Given the description of an element on the screen output the (x, y) to click on. 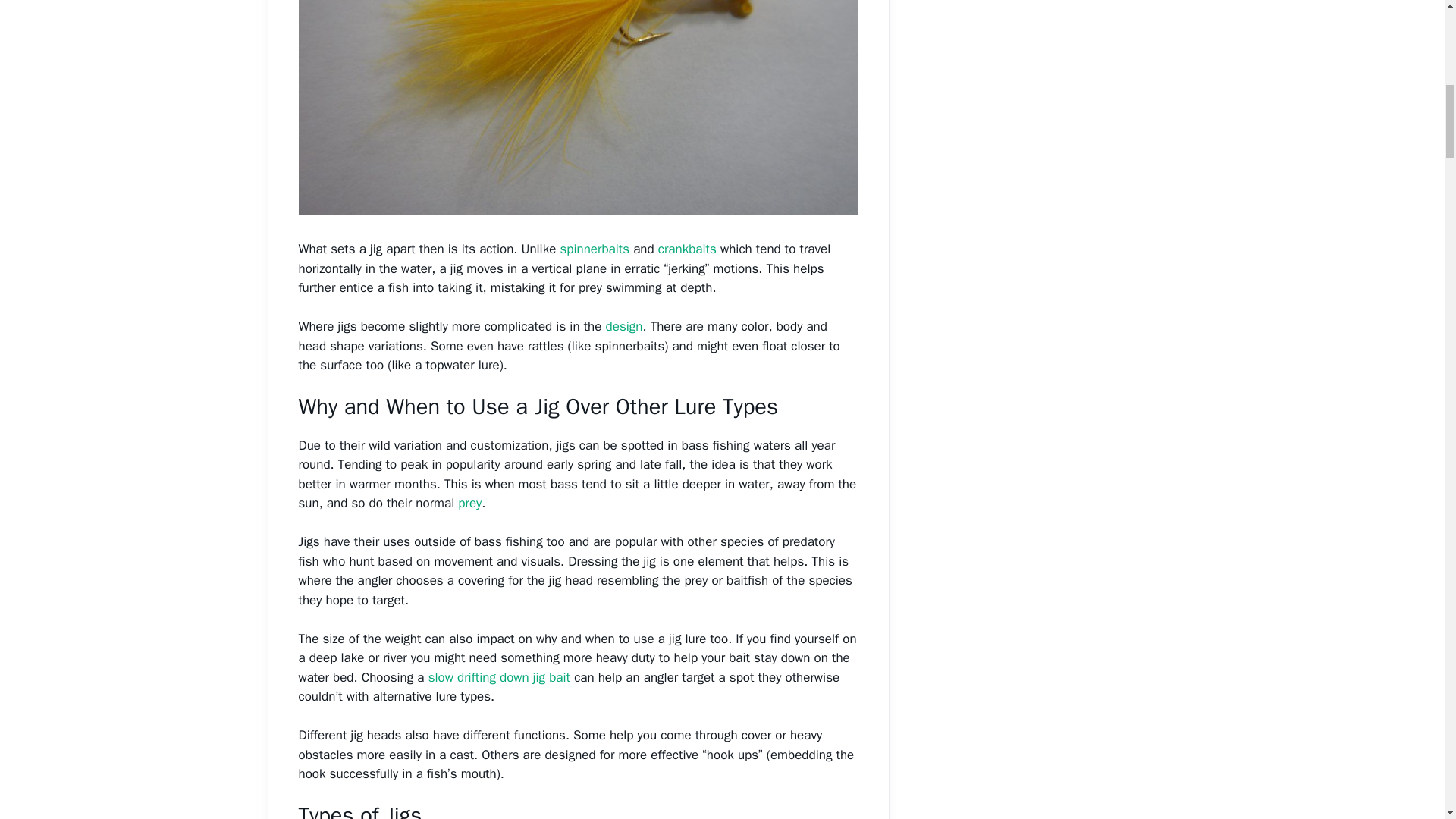
prey (469, 503)
slow drifting down jig bait (499, 677)
design (624, 326)
spinnerbaits (593, 248)
crankbaits (687, 248)
